Given the description of an element on the screen output the (x, y) to click on. 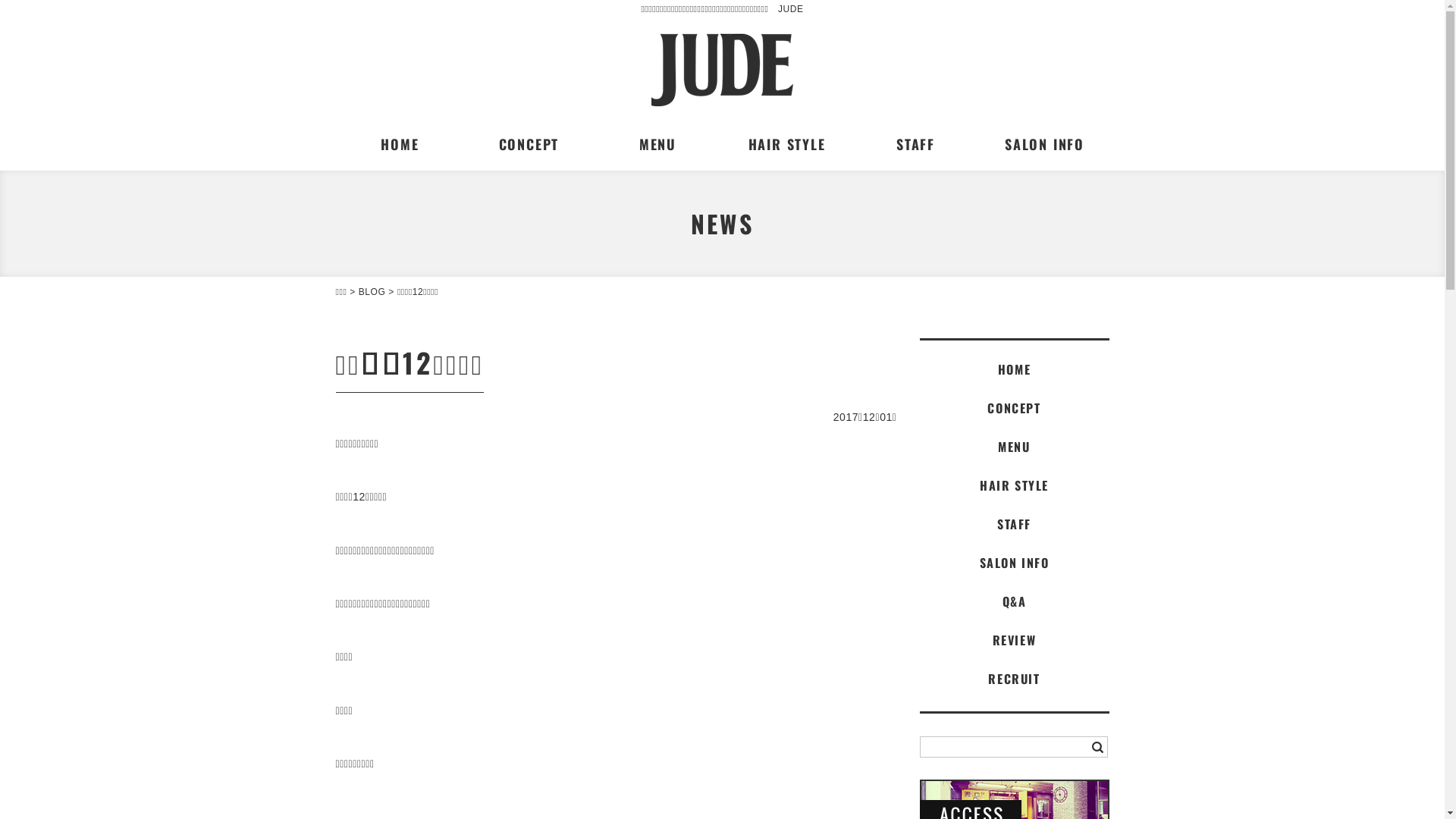
BLOG Element type: text (371, 291)
RECRUIT Element type: text (1013, 678)
HOME Element type: text (1013, 368)
MENU Element type: text (657, 144)
Q&A Element type: text (1013, 600)
CONCEPT Element type: text (528, 144)
HOME Element type: text (399, 144)
HAIR STYLE Element type: text (785, 144)
REVIEW Element type: text (1013, 639)
STAFF Element type: text (914, 144)
STAFF Element type: text (1013, 523)
SALON INFO Element type: text (1043, 144)
HAIR STYLE Element type: text (1013, 484)
SALON INFO Element type: text (1013, 562)
MENU Element type: text (1013, 446)
CONCEPT Element type: text (1013, 407)
